Given the description of an element on the screen output the (x, y) to click on. 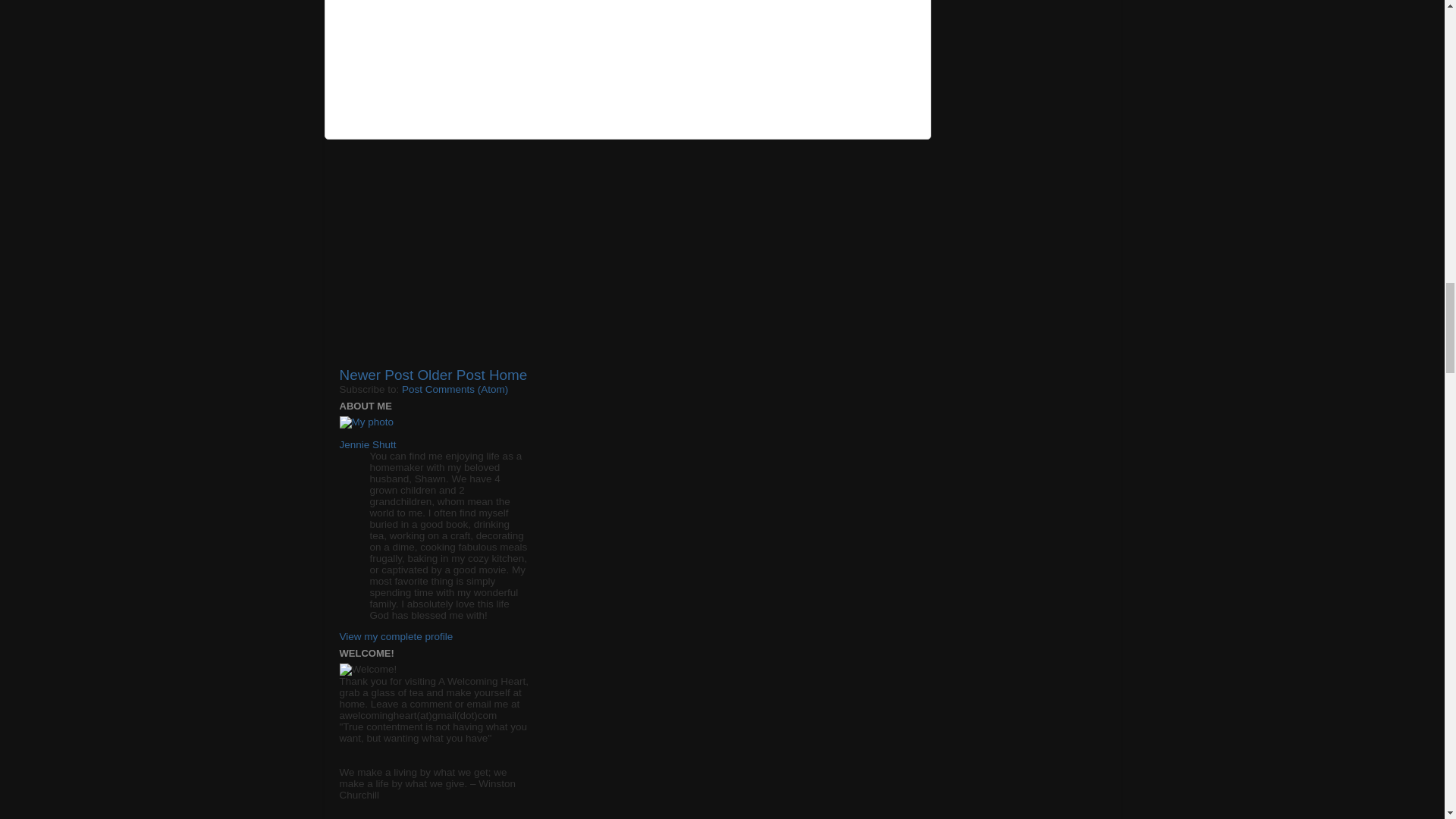
Advertisement (627, 260)
Newer Post (376, 374)
View my complete profile (395, 636)
Older Post (450, 374)
Jennie Shutt (367, 444)
Newer Post (376, 374)
Older Post (450, 374)
Home (508, 374)
